Given the description of an element on the screen output the (x, y) to click on. 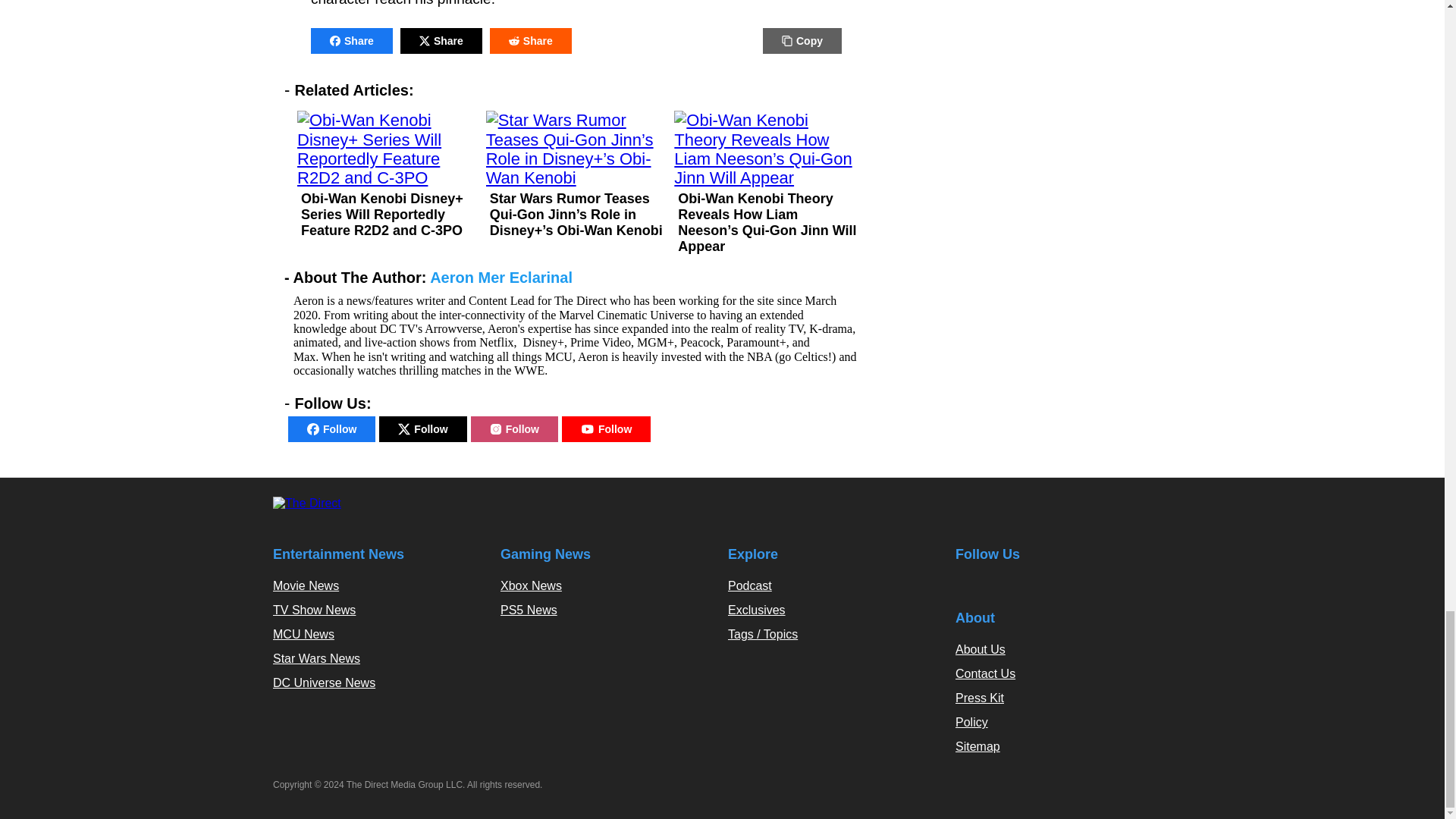
Share on Reddit (530, 40)
